Given the description of an element on the screen output the (x, y) to click on. 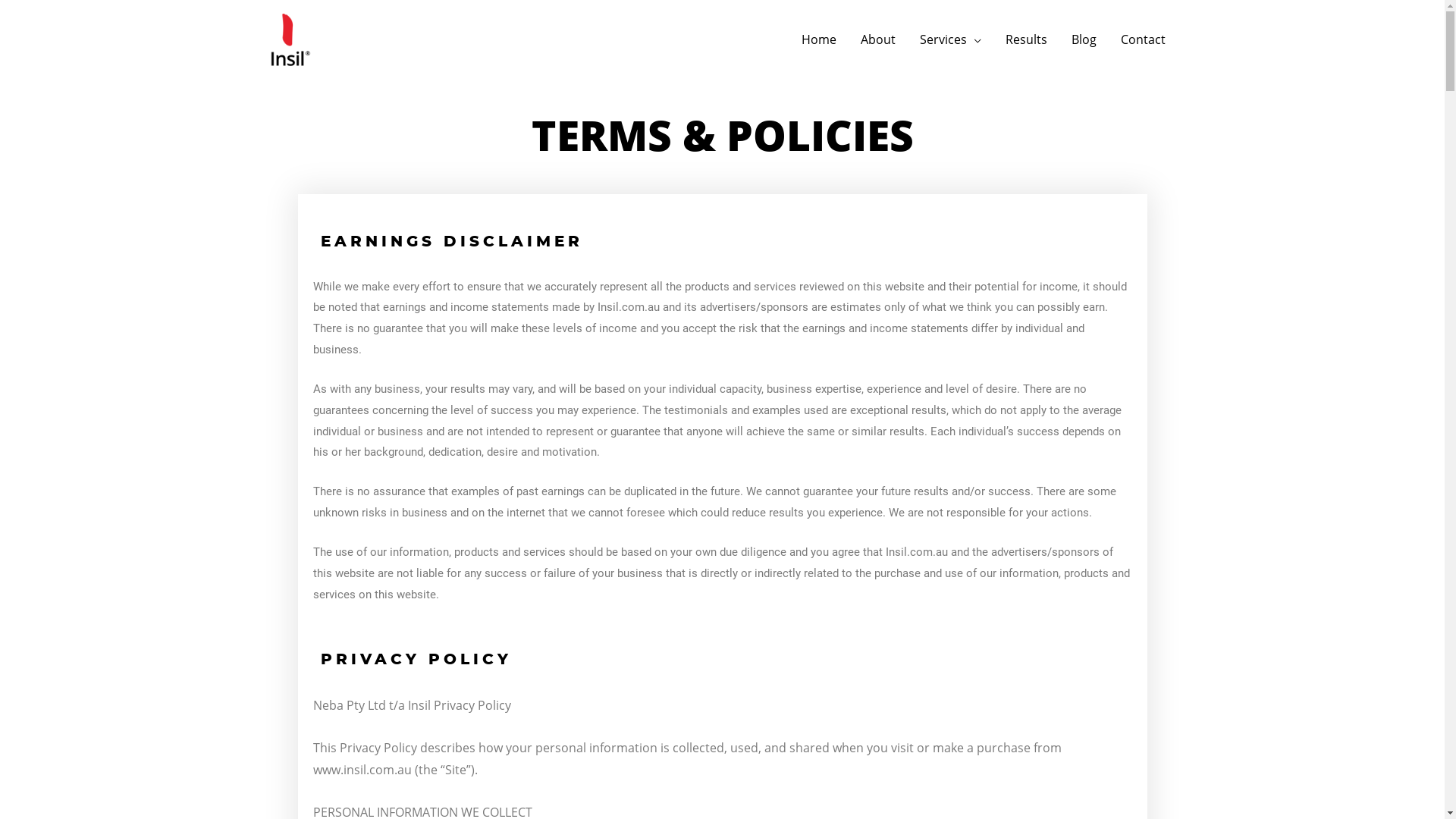
Blog Element type: text (1082, 39)
Results Element type: text (1026, 39)
About Element type: text (876, 39)
Home Element type: text (817, 39)
Services Element type: text (949, 39)
Contact Element type: text (1142, 39)
